Given the description of an element on the screen output the (x, y) to click on. 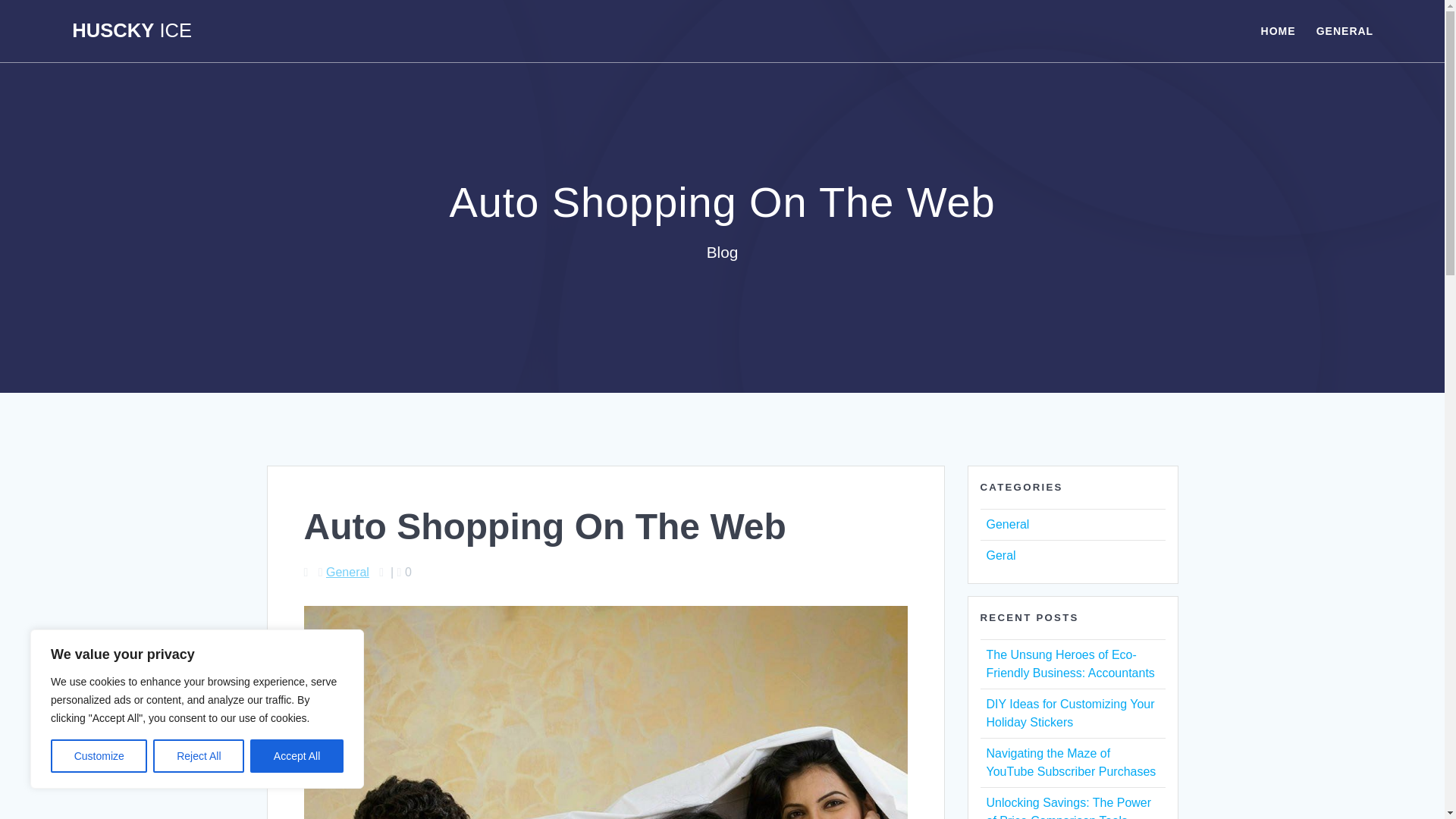
General (1007, 523)
Unlocking Savings: The Power of Price Comparison Tools (1068, 807)
Customize (98, 756)
The Unsung Heroes of Eco-Friendly Business: Accountants (1069, 663)
GENERAL (1344, 30)
Geral (999, 554)
DIY Ideas for Customizing Your Holiday Stickers (1069, 712)
HOME (1277, 30)
HUSCKY ICE (131, 30)
Reject All (198, 756)
